Given the description of an element on the screen output the (x, y) to click on. 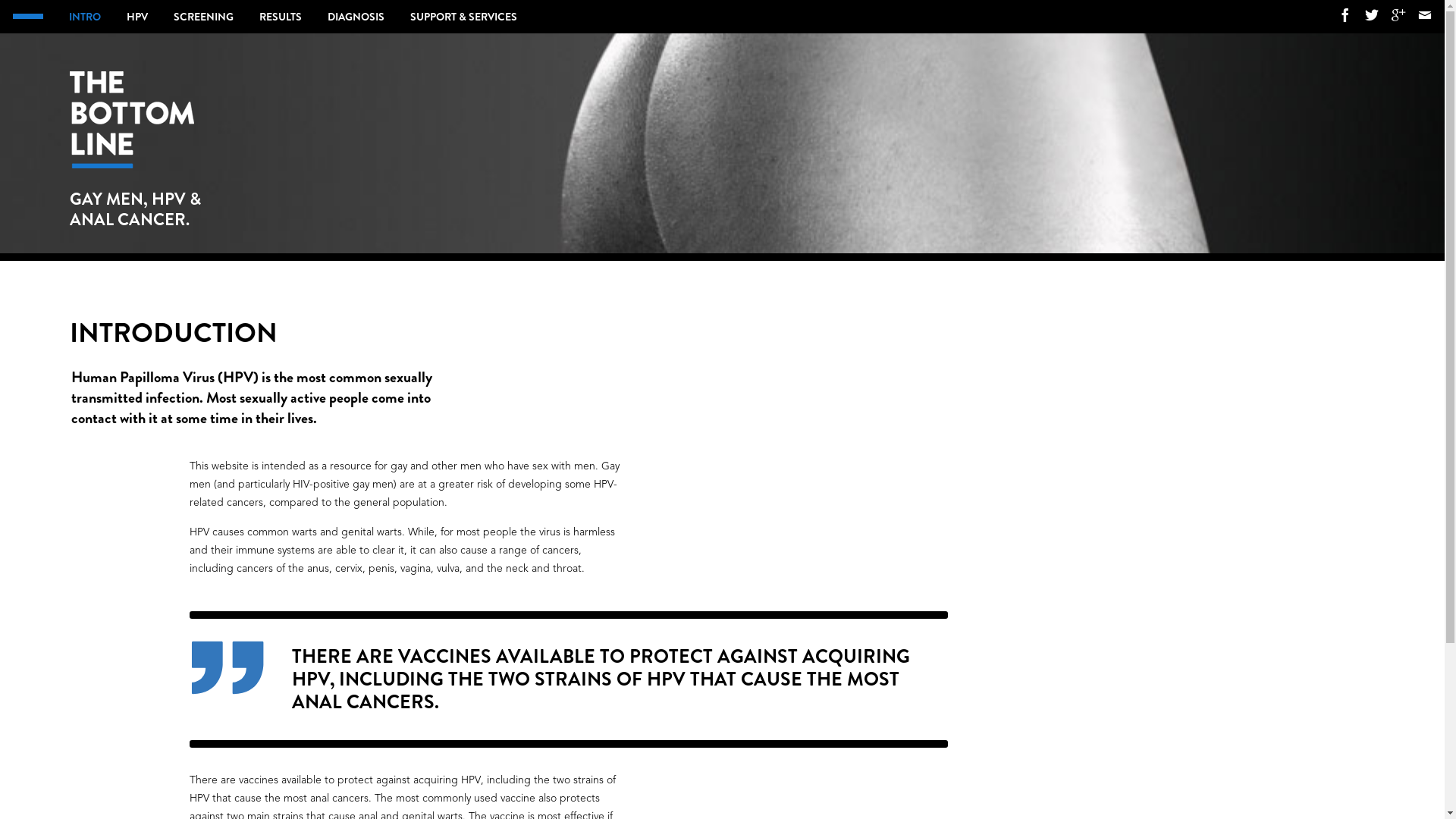
SUPPORT & SERVICES Element type: text (463, 16)
INTRO Element type: text (84, 16)
RESULTS Element type: text (280, 16)
DIAGNOSIS Element type: text (355, 16)
SCREENING Element type: text (203, 16)
HPV Element type: text (136, 16)
